Given the description of an element on the screen output the (x, y) to click on. 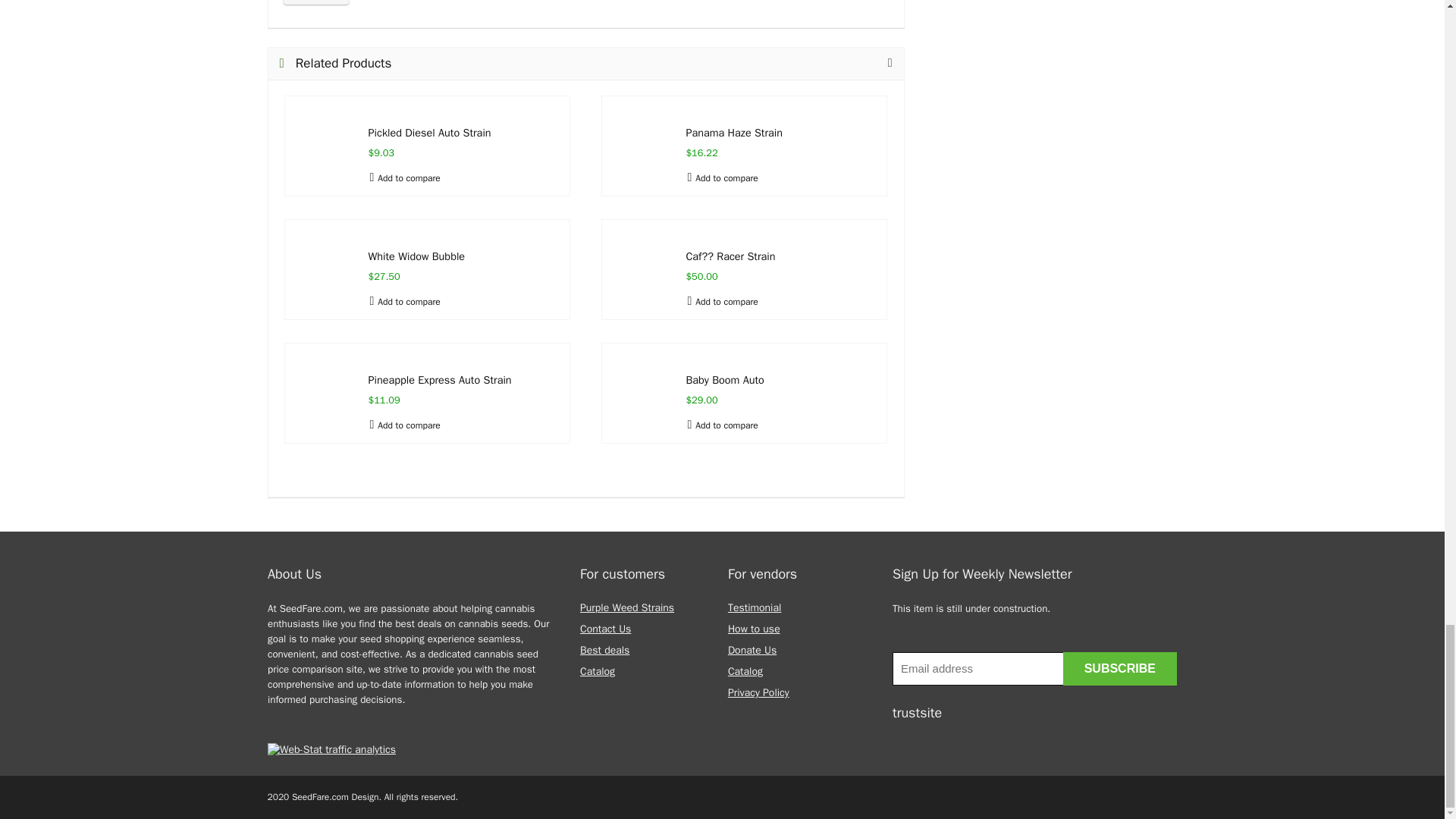
Subscribe (1119, 668)
Submit (316, 2)
